Given the description of an element on the screen output the (x, y) to click on. 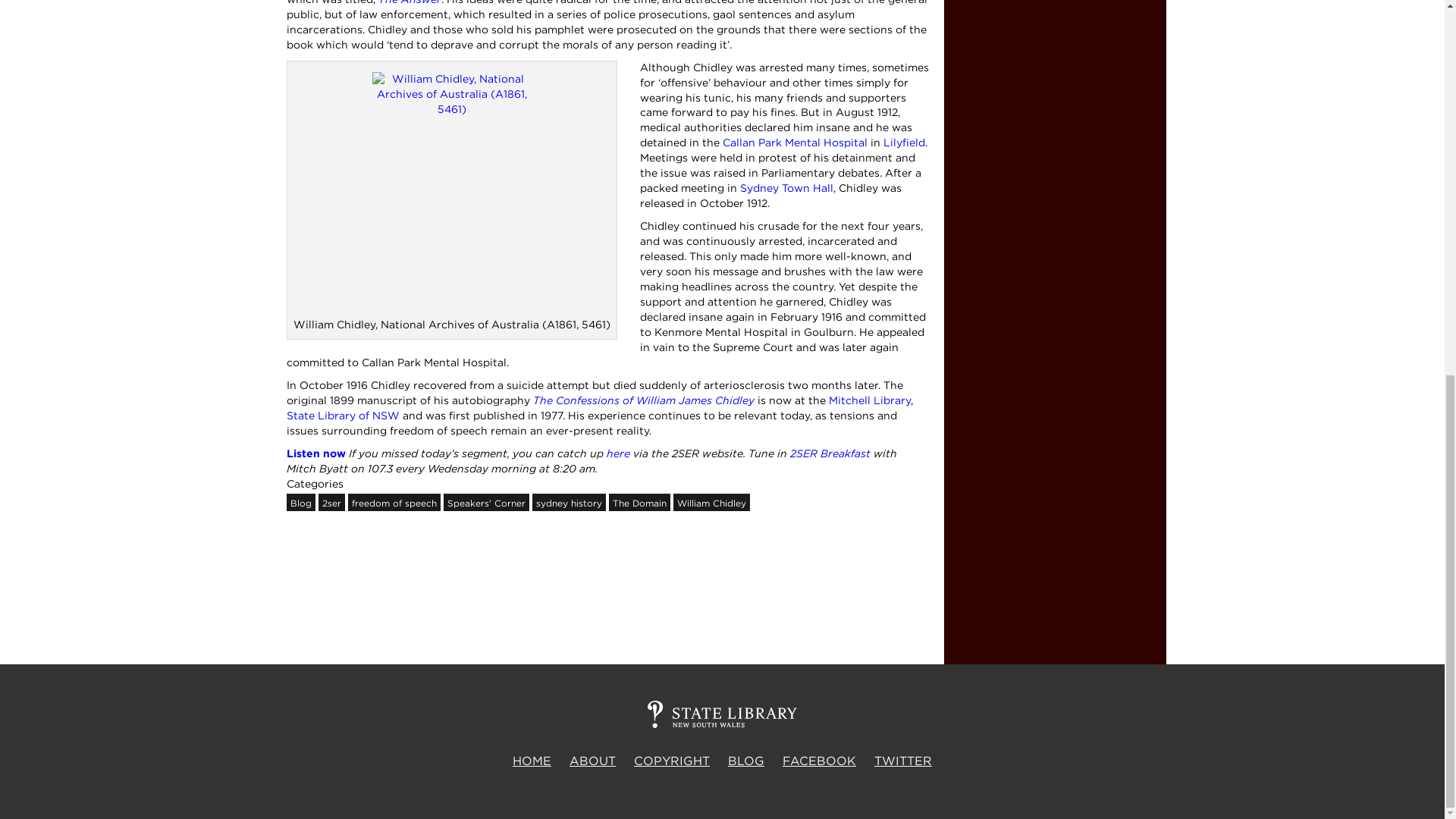
The Domain (638, 502)
Speakers' Corner (485, 502)
William Chidley (710, 502)
Sydney Town Hall (785, 187)
here (618, 453)
Blog (300, 502)
2SER Breakfast (830, 453)
Listen now (316, 453)
Callan Park Mental Hospital (794, 142)
Lilyfield (903, 142)
The Confessions of William James Chidley (643, 399)
2ser (331, 502)
The Answer (409, 2)
sydney history (568, 502)
freedom of speech (393, 502)
